Given the description of an element on the screen output the (x, y) to click on. 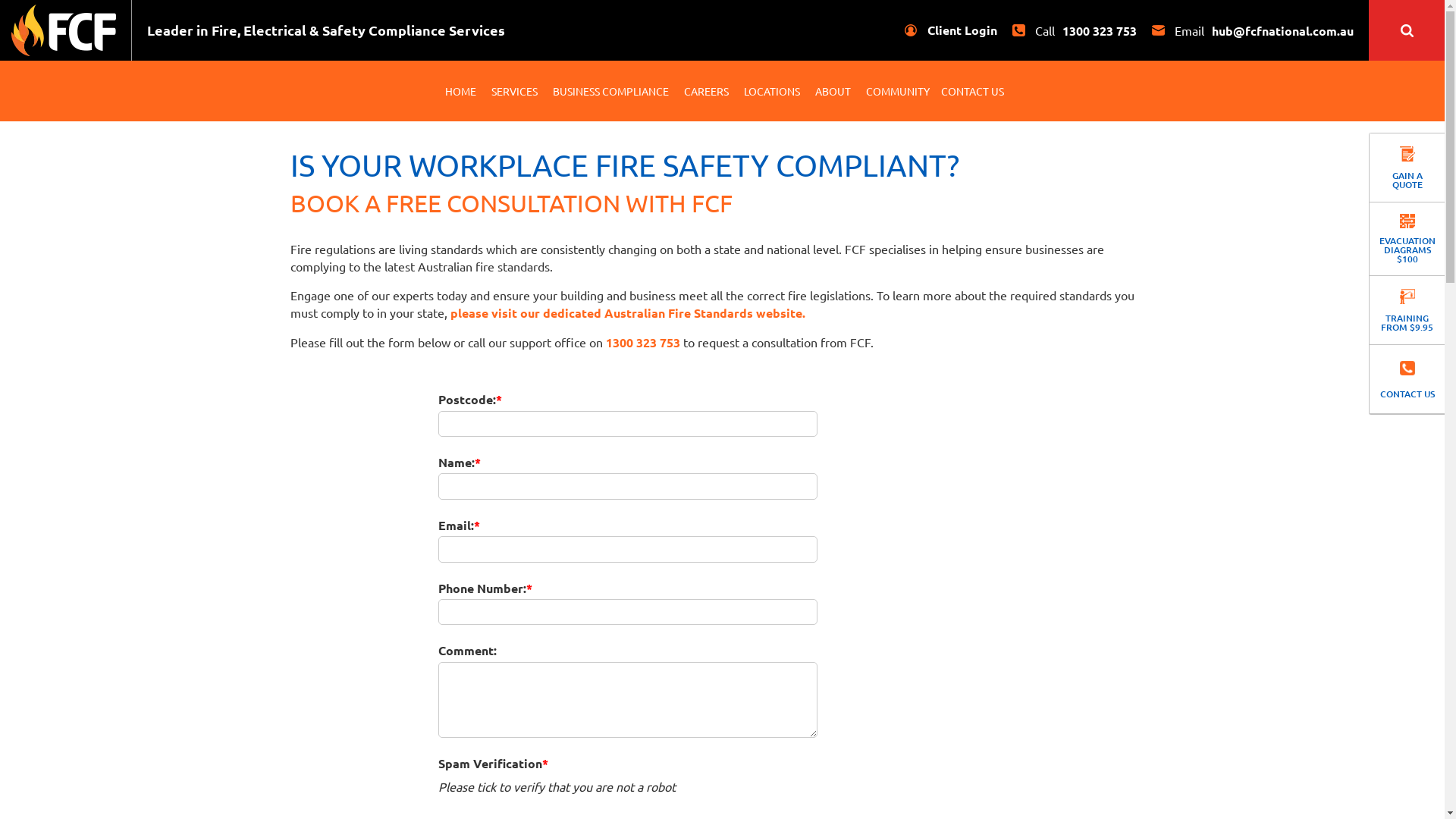
1300 323 753 Element type: text (642, 342)
CONTACT US Element type: text (1406, 379)
GAIN A QUOTE Element type: text (1406, 167)
SERVICES Element type: text (513, 90)
CONTACT US Element type: text (972, 90)
TRAINING FROM $9.95 Element type: text (1406, 310)
BUSINESS COMPLIANCE Element type: text (610, 90)
EVACUATION DIAGRAMS
$100 Element type: text (1406, 238)
HOME Element type: text (460, 90)
Search The FCF Website Element type: hover (1406, 30)
Emailhub@fcfnational.com.au Element type: text (1252, 29)
Call1300 323 753 Element type: text (1074, 29)
CAREERS Element type: text (705, 90)
COMMUNITY Element type: text (896, 90)
Client Login Element type: text (950, 30)
ABOUT Element type: text (832, 90)
LOCATIONS Element type: text (771, 90)
